Given the description of an element on the screen output the (x, y) to click on. 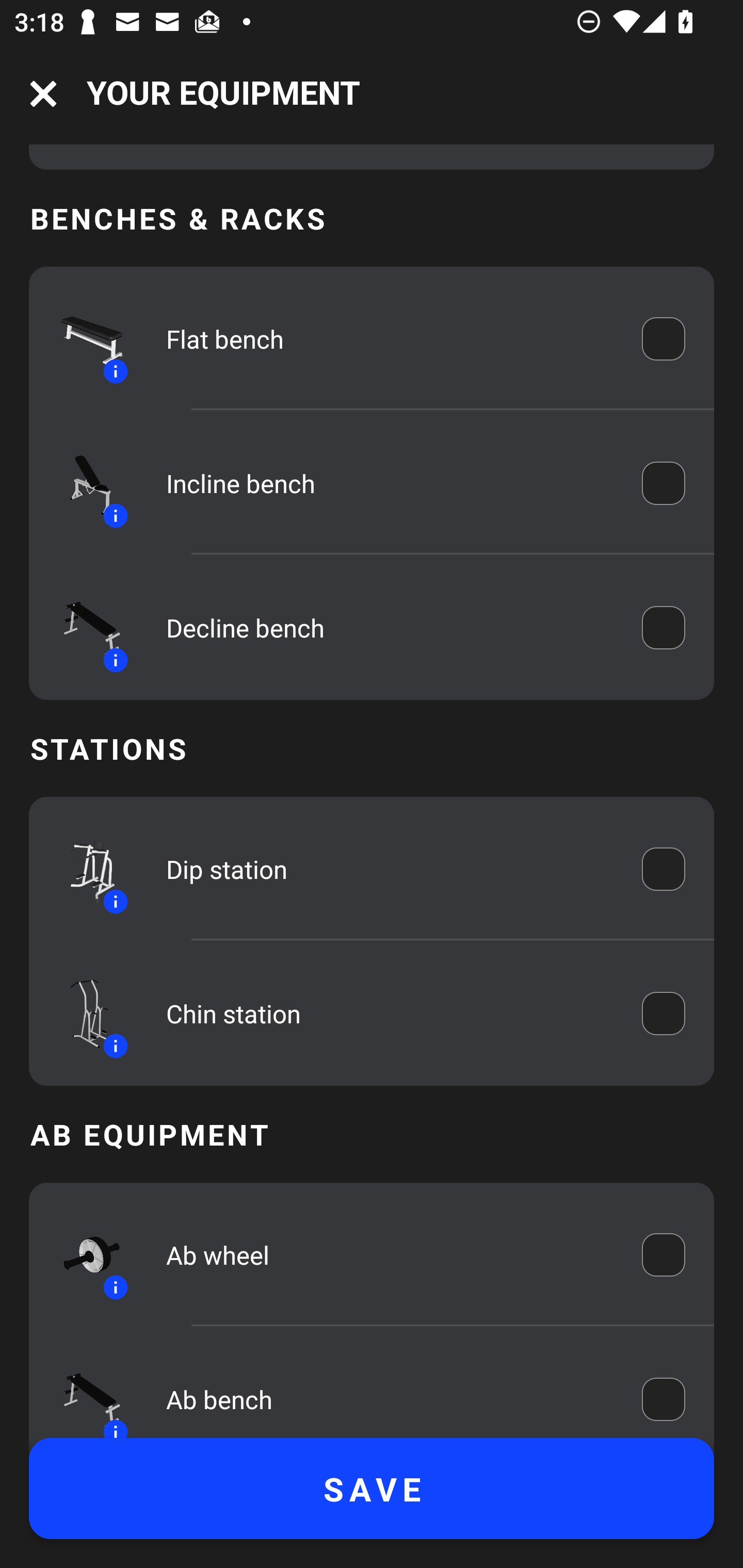
Navigation icon (43, 93)
Equipment icon Information icon (82, 339)
Flat bench (389, 338)
Equipment icon Information icon (82, 483)
Incline bench (389, 483)
Equipment icon Information icon (82, 627)
Decline bench (389, 627)
Equipment icon Information icon (82, 869)
Dip station (389, 869)
Equipment icon Information icon (82, 1013)
Chin station (389, 1013)
Equipment icon Information icon (82, 1255)
Ab wheel (389, 1255)
Equipment icon Information icon (82, 1391)
Ab bench (389, 1396)
SAVE (371, 1488)
